Given the description of an element on the screen output the (x, y) to click on. 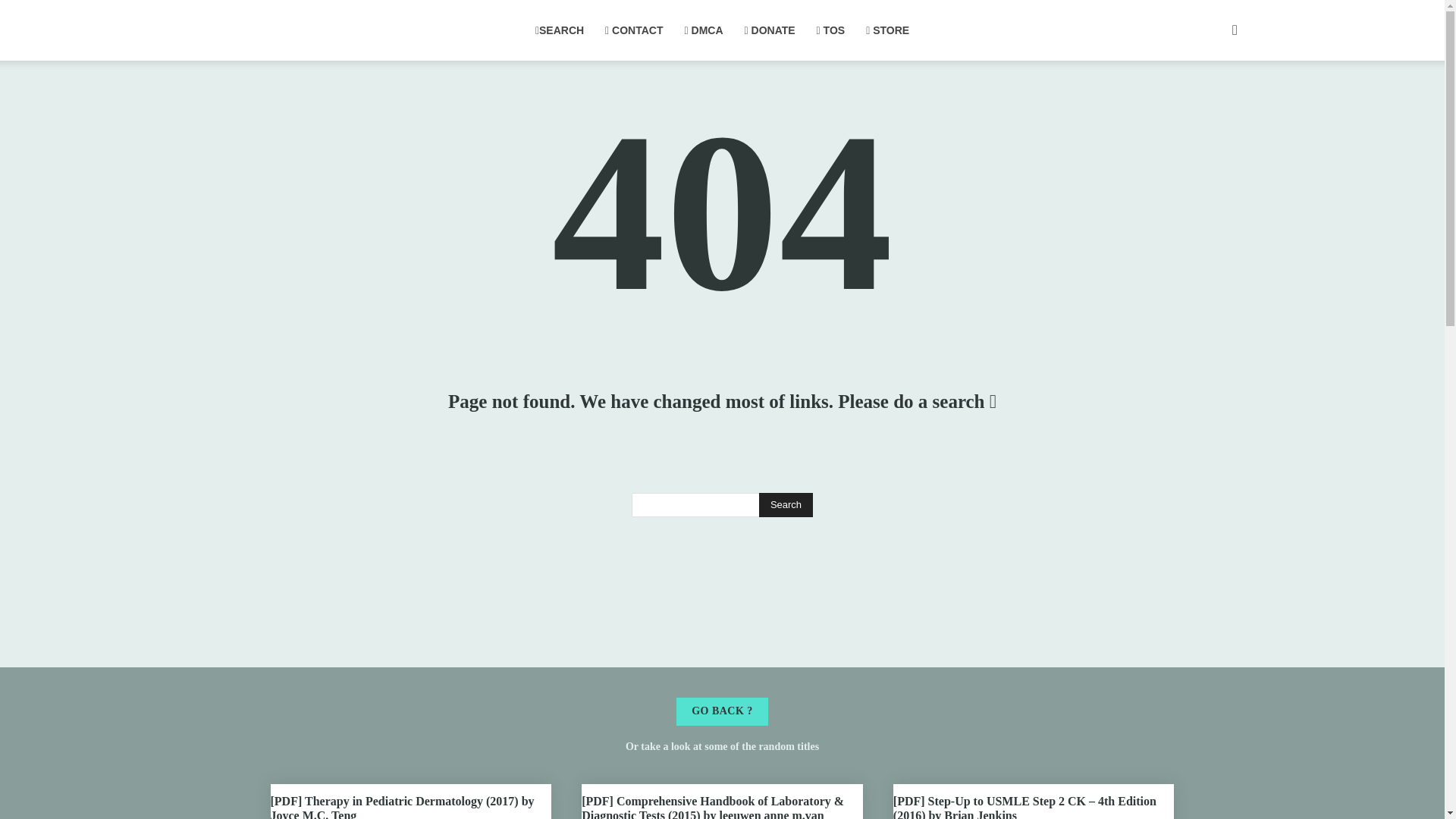
Go back ? (722, 711)
GO BACK ? (722, 711)
Search (785, 504)
Search (1210, 102)
